Given the description of an element on the screen output the (x, y) to click on. 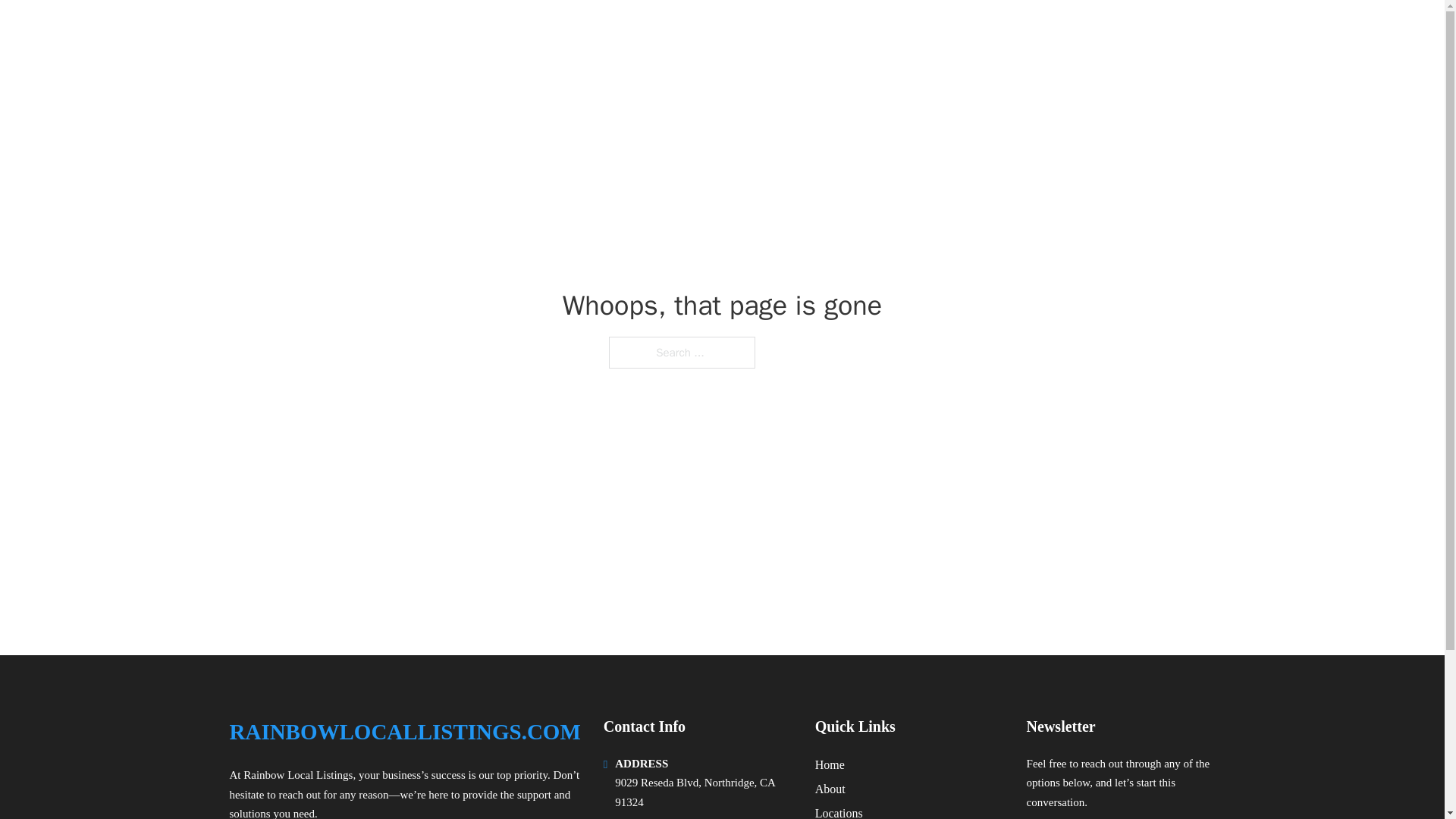
HOME (1025, 31)
About (830, 788)
Home (829, 764)
LOCATIONS (1098, 31)
RAINBOWLOCALLISTINGS.COM (403, 732)
RAINBOWLOCALLISTINGS.COM (421, 31)
Locations (839, 811)
